Given the description of an element on the screen output the (x, y) to click on. 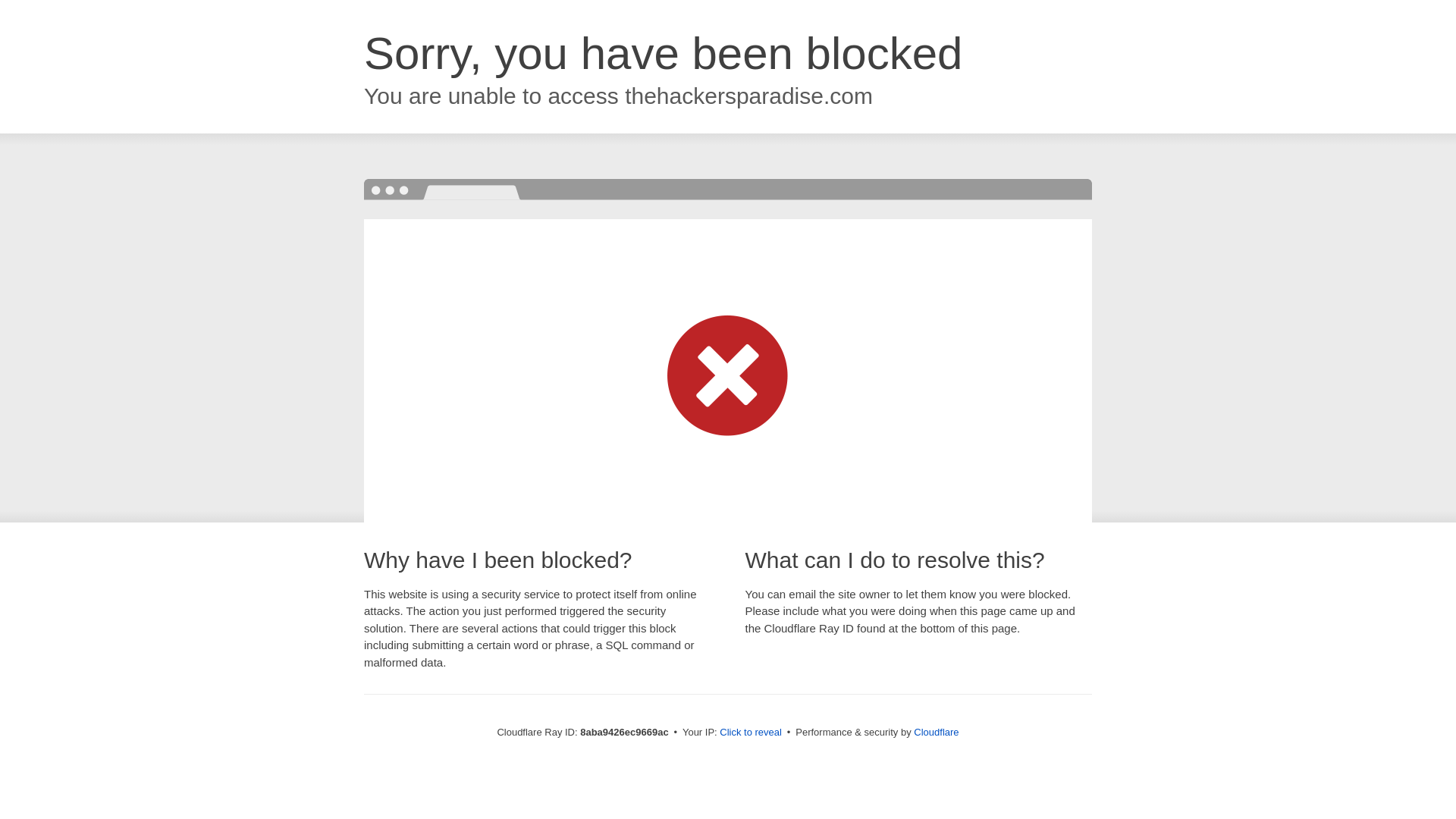
Cloudflare (936, 731)
Click to reveal (750, 732)
